Given the description of an element on the screen output the (x, y) to click on. 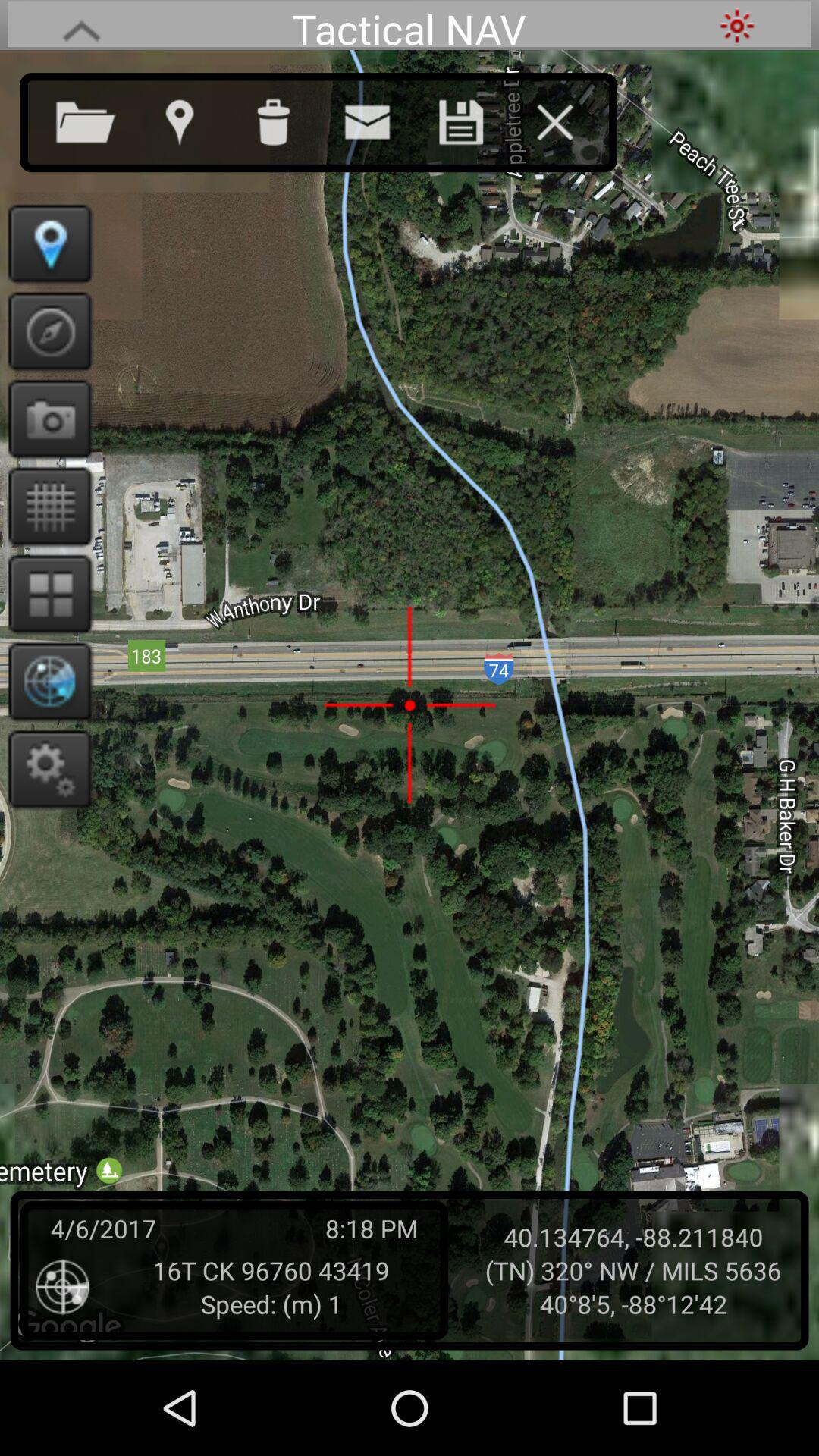
use current location (194, 119)
